Given the description of an element on the screen output the (x, y) to click on. 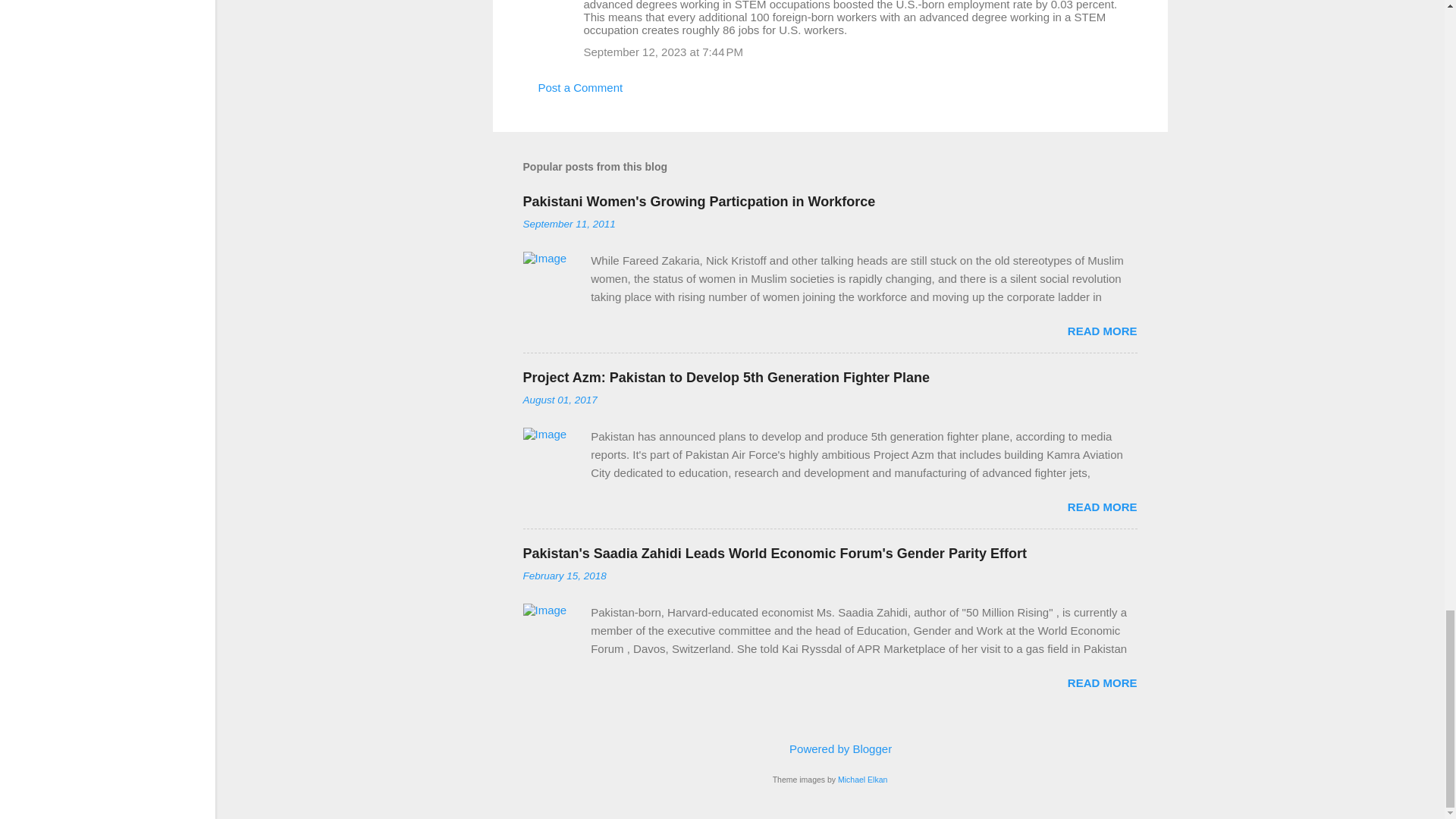
comment permalink (663, 51)
